Given the description of an element on the screen output the (x, y) to click on. 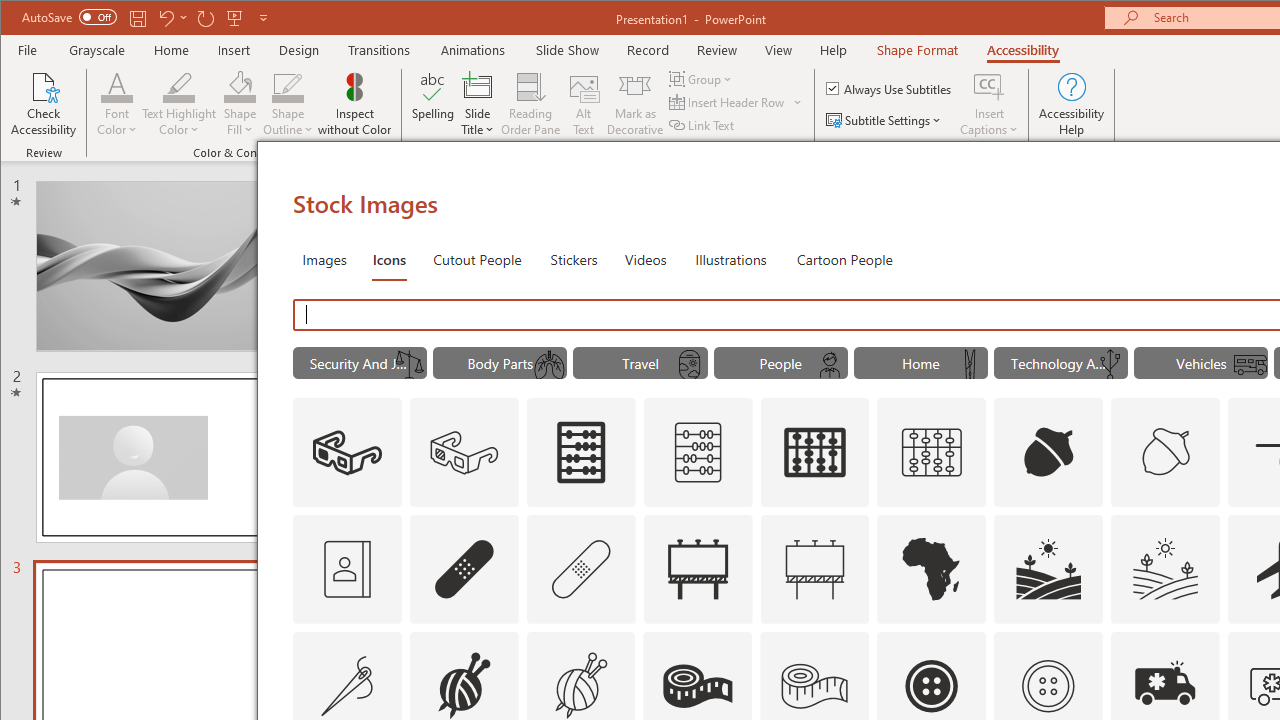
Thumbnail (1204, 646)
Insert Captions (989, 86)
AutomationID: Icons_Agriculture (1048, 568)
Accessibility Help (1071, 104)
Insert Captions (989, 104)
Shape Outline (288, 104)
AutomationID: Icons_Peg_M (970, 365)
Shape Format (916, 50)
AutomationID: Icons_PlaneWindow_M (689, 365)
AutomationID: Icons_Plug_M (1109, 365)
